Given the description of an element on the screen output the (x, y) to click on. 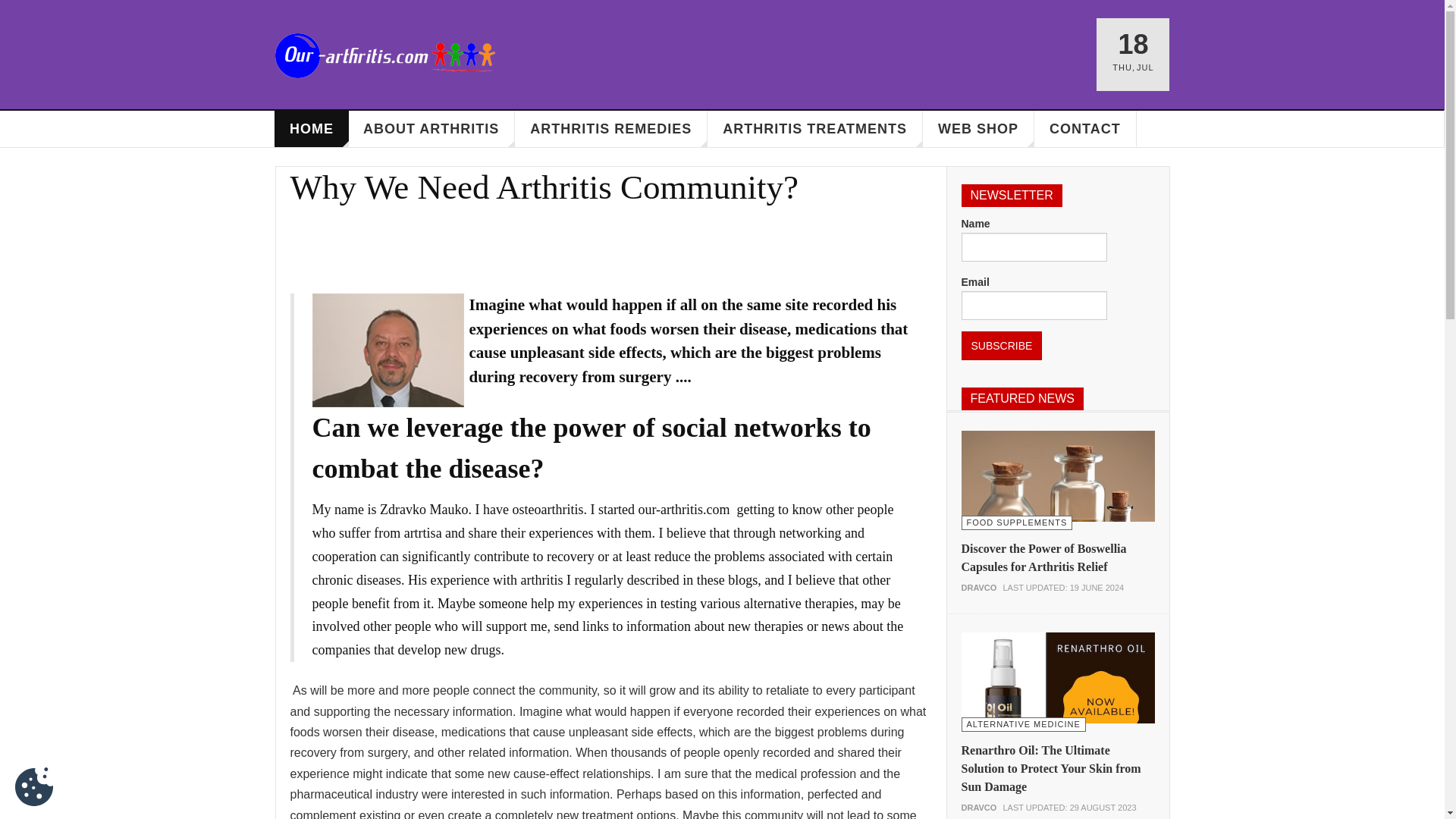
Written by:  (978, 807)
HOME (312, 128)
Category:  (1023, 723)
ARTHRITIS REMEDIES (611, 128)
Boswellia resin, oil and capsules (1057, 527)
Written by:  (978, 587)
ARTHRITIS TREATMENTS (815, 128)
Category:  (1016, 521)
Subscribe (1001, 345)
Our arthritis (385, 55)
Why We Need Arthritis Community? (543, 187)
